Given the description of an element on the screen output the (x, y) to click on. 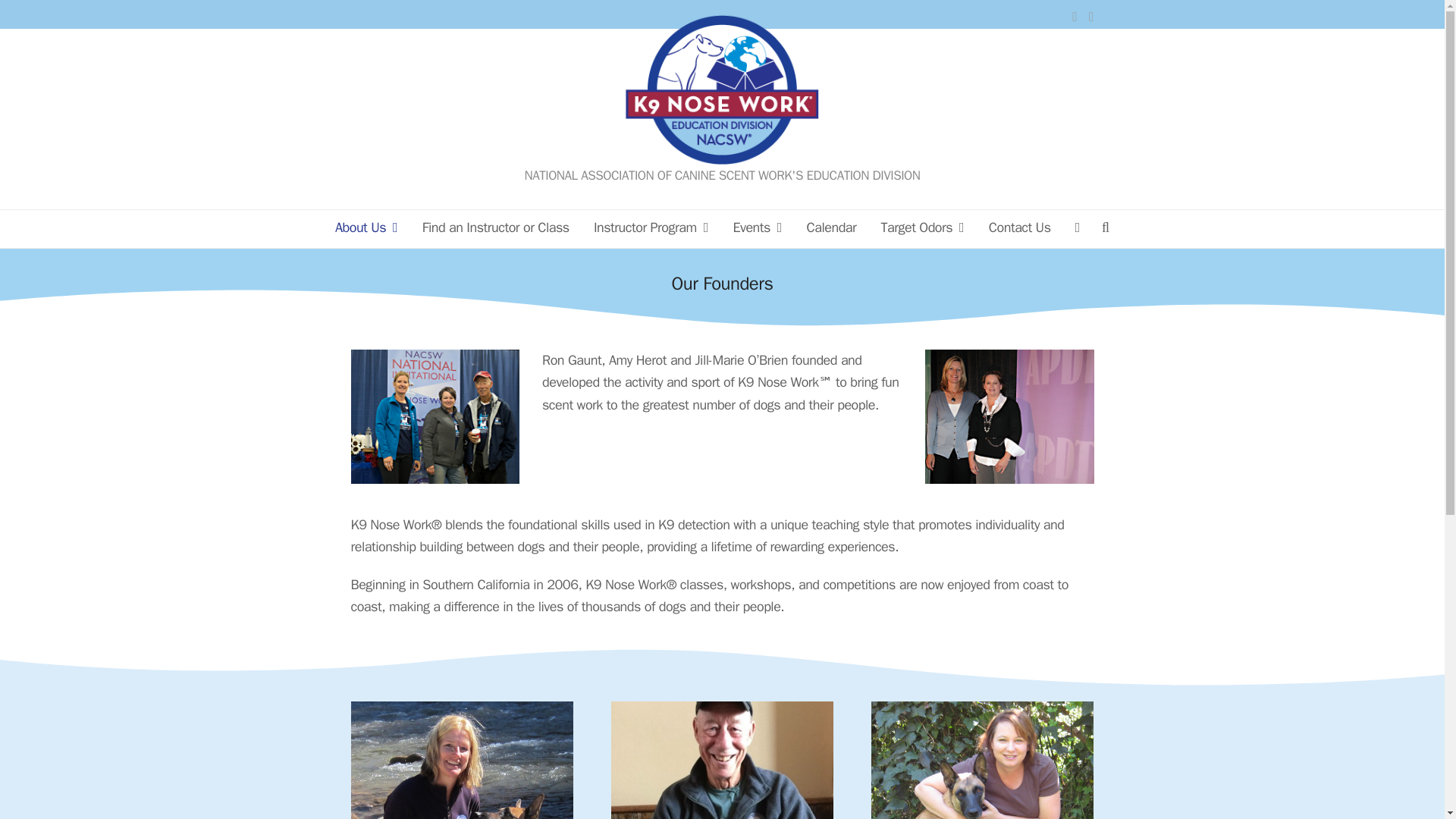
kn-nose-work-amy-jill-and-ron-founders (434, 416)
Events (757, 228)
k9-nose-work-founder-amy-herot (461, 760)
ron-gaunt-co-founder (721, 760)
k9-nose-work-founder-jill-marie (981, 760)
Calendar (830, 228)
Contact Us (1018, 228)
kn-nose-work-amy-and-jill (1009, 416)
Instructor Program (650, 228)
Target Odors (922, 228)
